Given the description of an element on the screen output the (x, y) to click on. 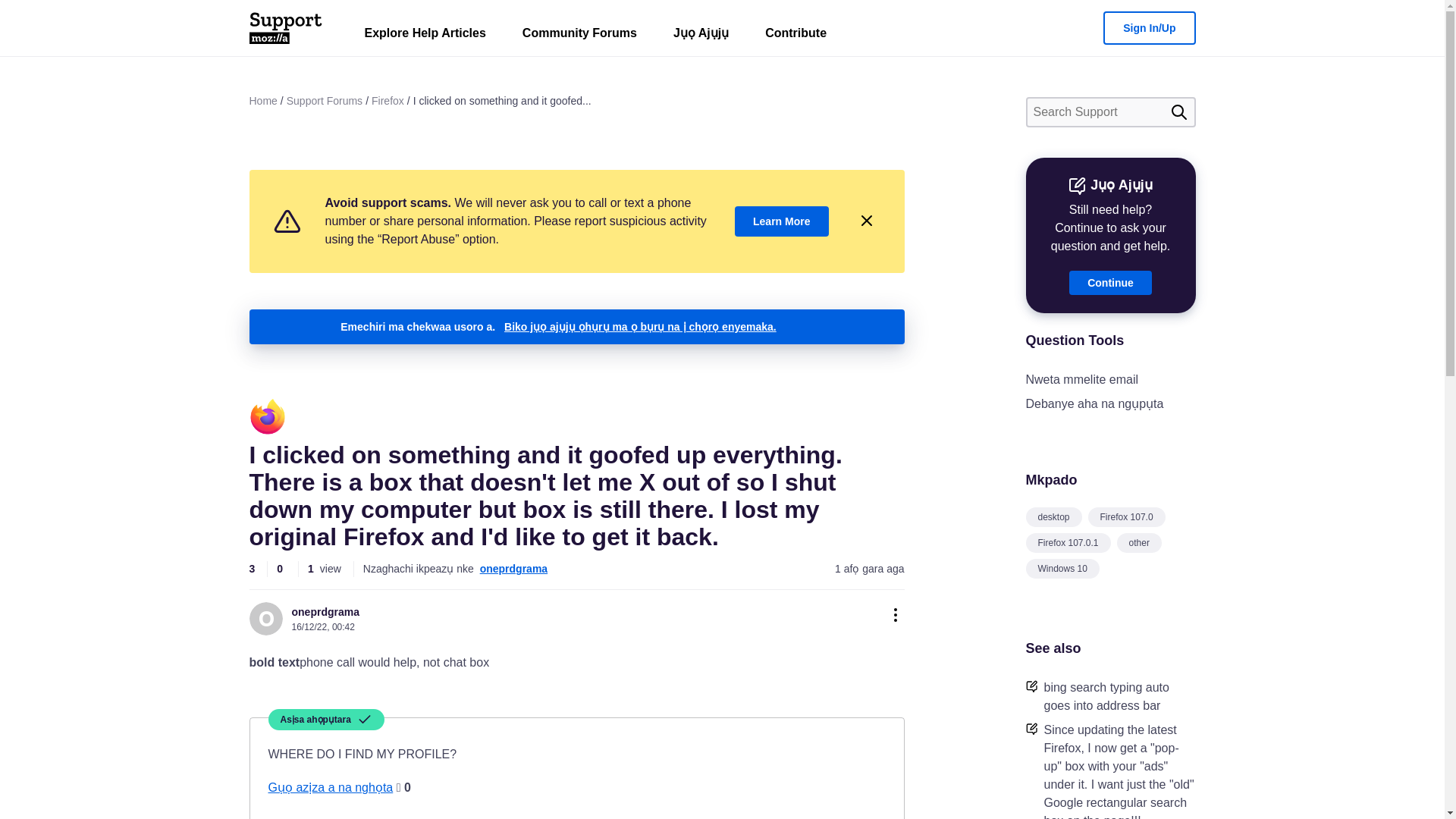
Explore Help Articles (424, 37)
Community Forums (579, 37)
